Given the description of an element on the screen output the (x, y) to click on. 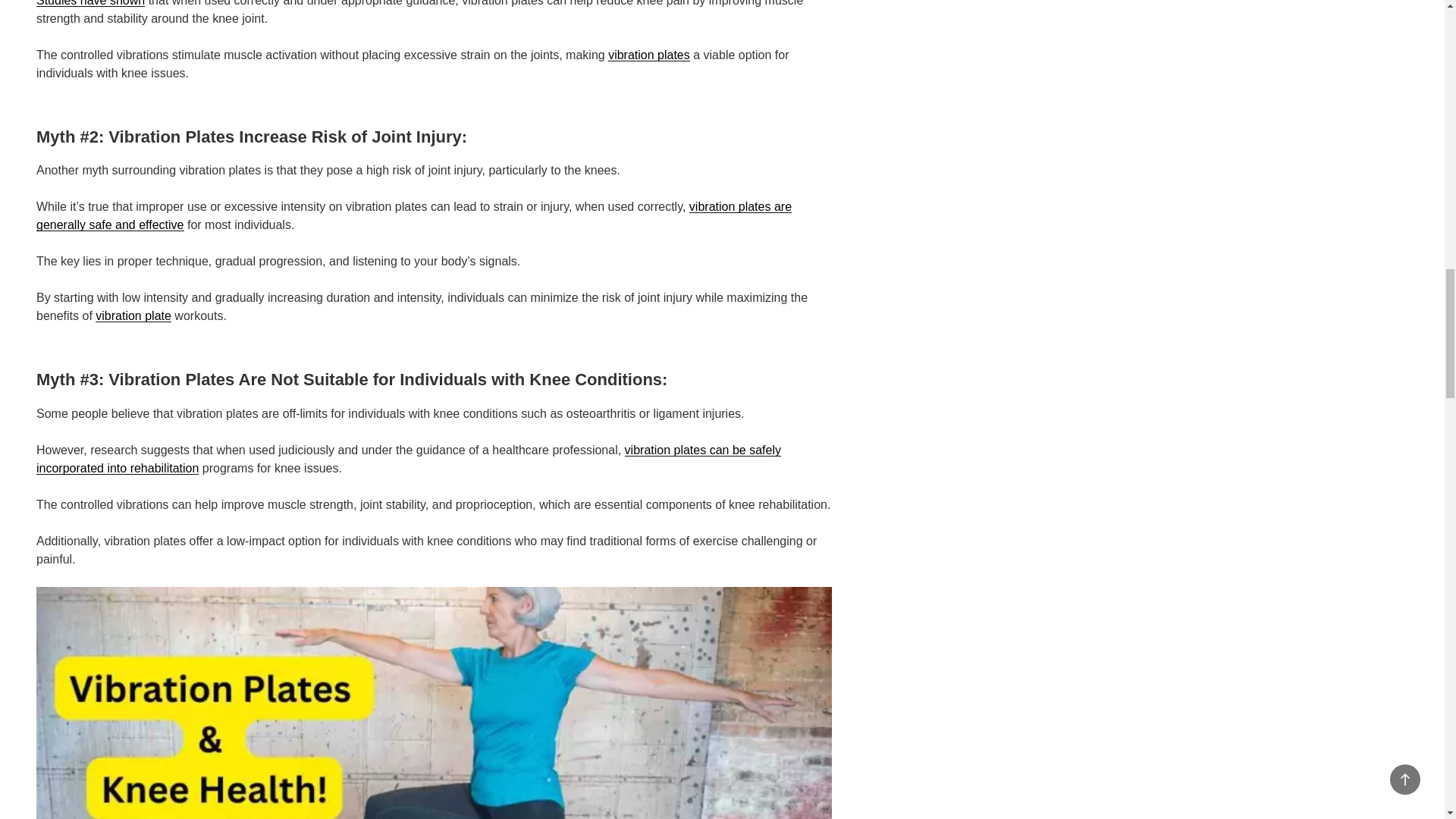
Studies have shown (90, 3)
vibration plate (133, 315)
vibration plates are generally safe and effective (414, 214)
vibration plates (649, 54)
